Given the description of an element on the screen output the (x, y) to click on. 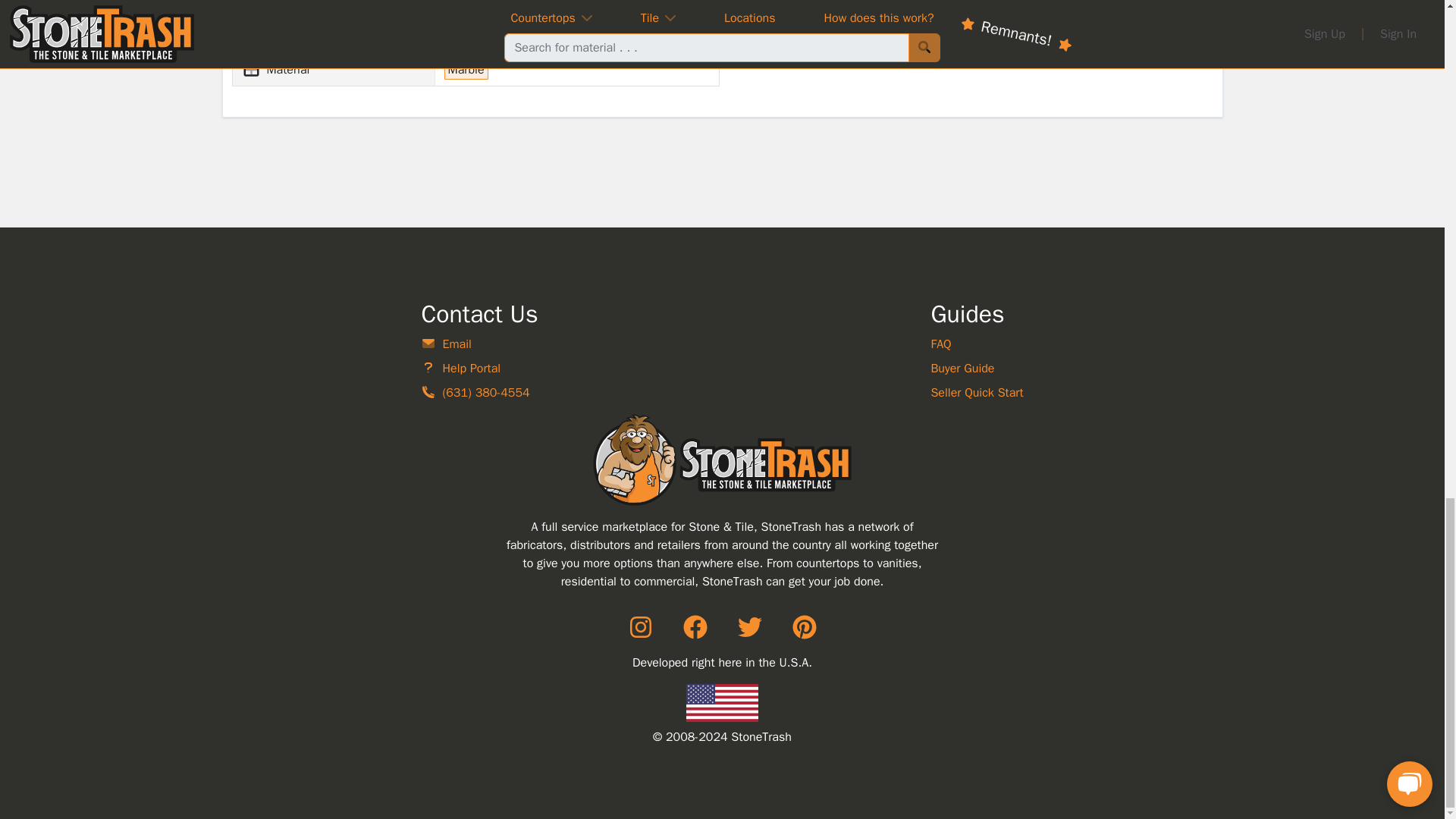
18 inches x 18 inches x 1.27 cm (486, 7)
1.27 cm (517, 7)
1012.5 (981, 7)
